Given the description of an element on the screen output the (x, y) to click on. 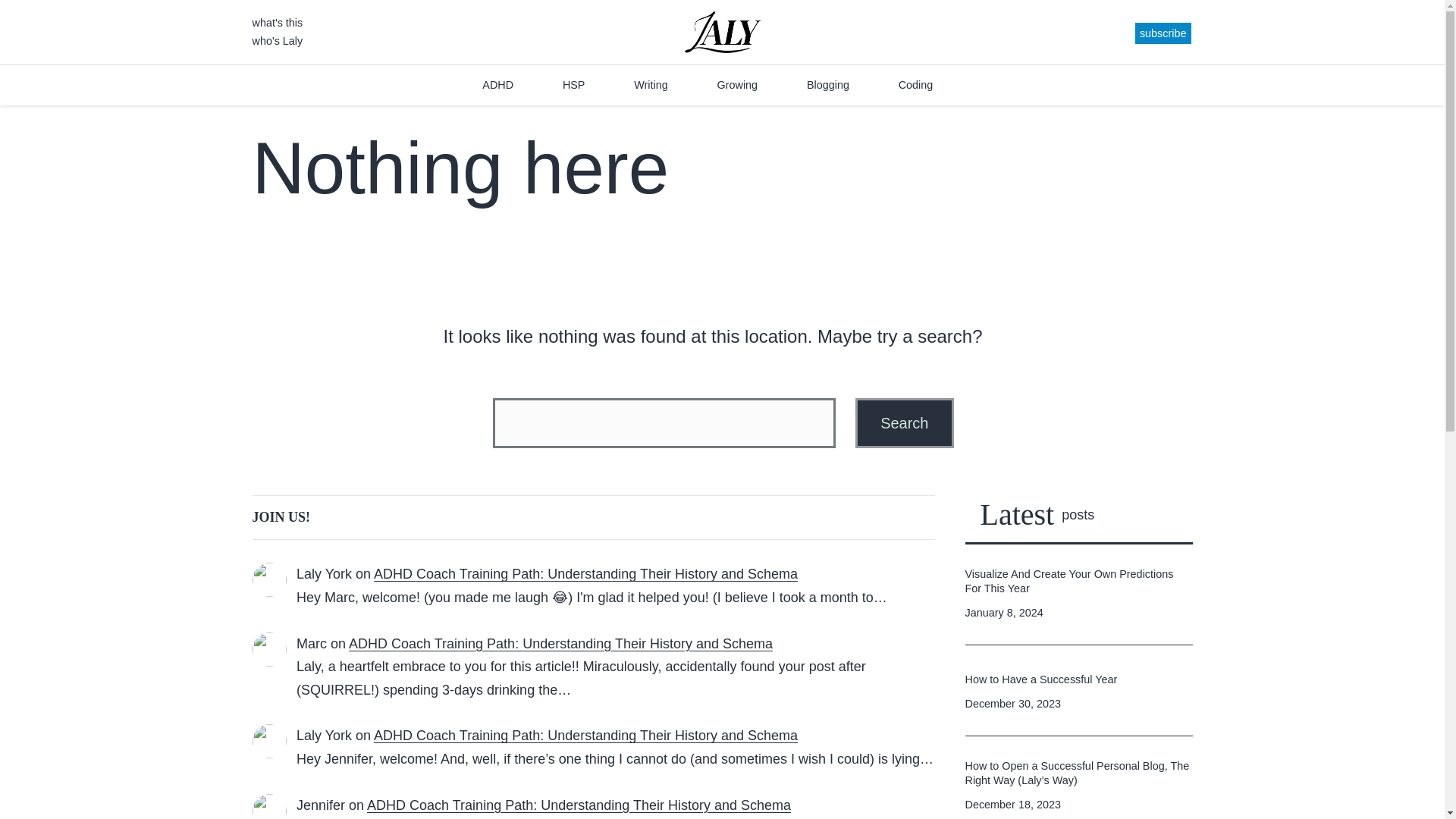
Laly York (324, 573)
Search (904, 422)
Search (904, 422)
HSP (574, 84)
Visualize And Create Your Own Predictions For This Year (1077, 581)
what's this (276, 22)
Blogging (827, 84)
Laly York (324, 735)
